Given the description of an element on the screen output the (x, y) to click on. 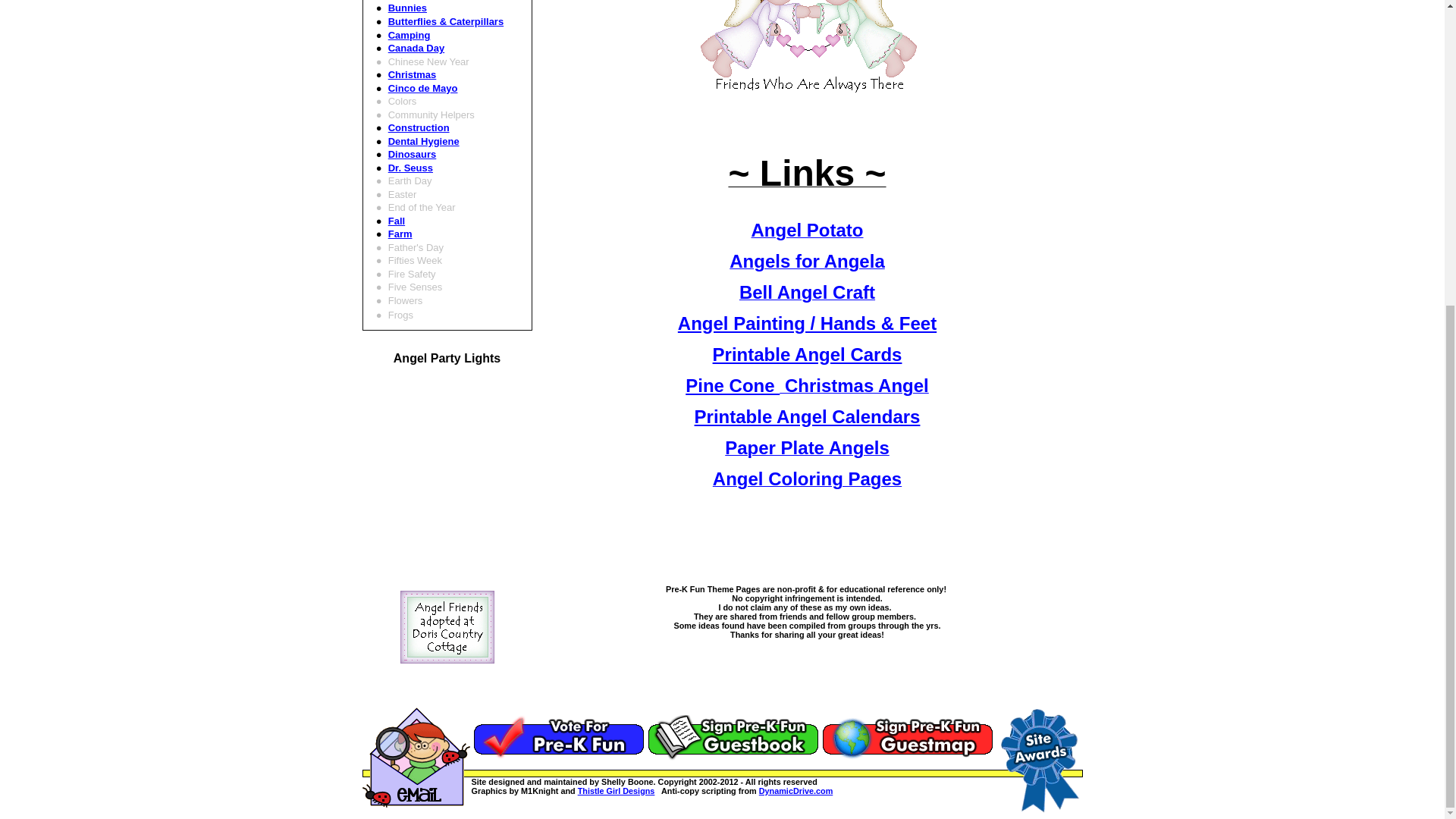
Thanks for visiting... leave a comment! (731, 737)
Click Pre-K Fun banner ad at Childcare Top Sites (558, 737)
Angels for Angela (806, 264)
Printable Angel Cards (807, 353)
Bunnies (407, 7)
Pine Cone (731, 385)
Bell Angel Craft (807, 295)
Canada Day (416, 48)
Wonderful graphics! Stop by for a visit. (616, 790)
Cinco de Mayo (423, 88)
Dental Hygiene (424, 141)
Fall (396, 220)
 Christmas Angel (853, 388)
Farm (400, 233)
Dinosaurs (412, 153)
